Given the description of an element on the screen output the (x, y) to click on. 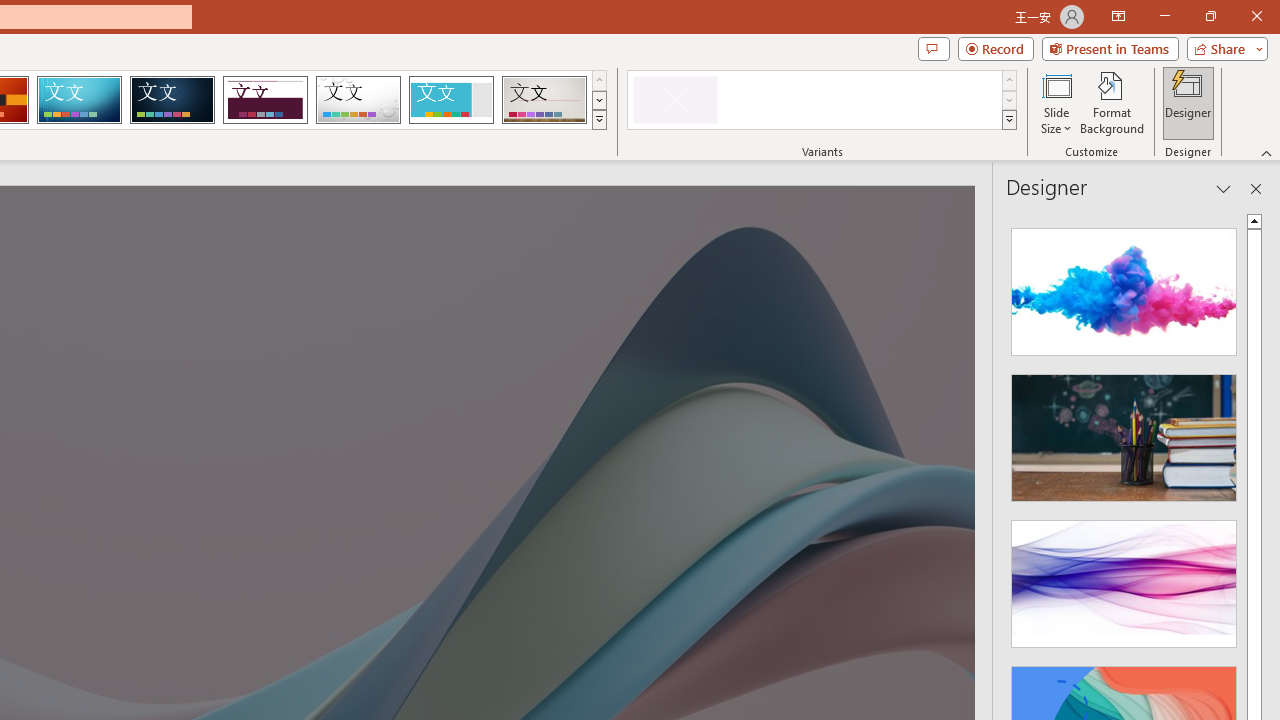
Themes (598, 120)
Recommended Design: Design Idea (1124, 286)
AutomationID: ThemeVariantsGallery (822, 99)
Droplet (358, 100)
Gallery (544, 100)
